Given the description of an element on the screen output the (x, y) to click on. 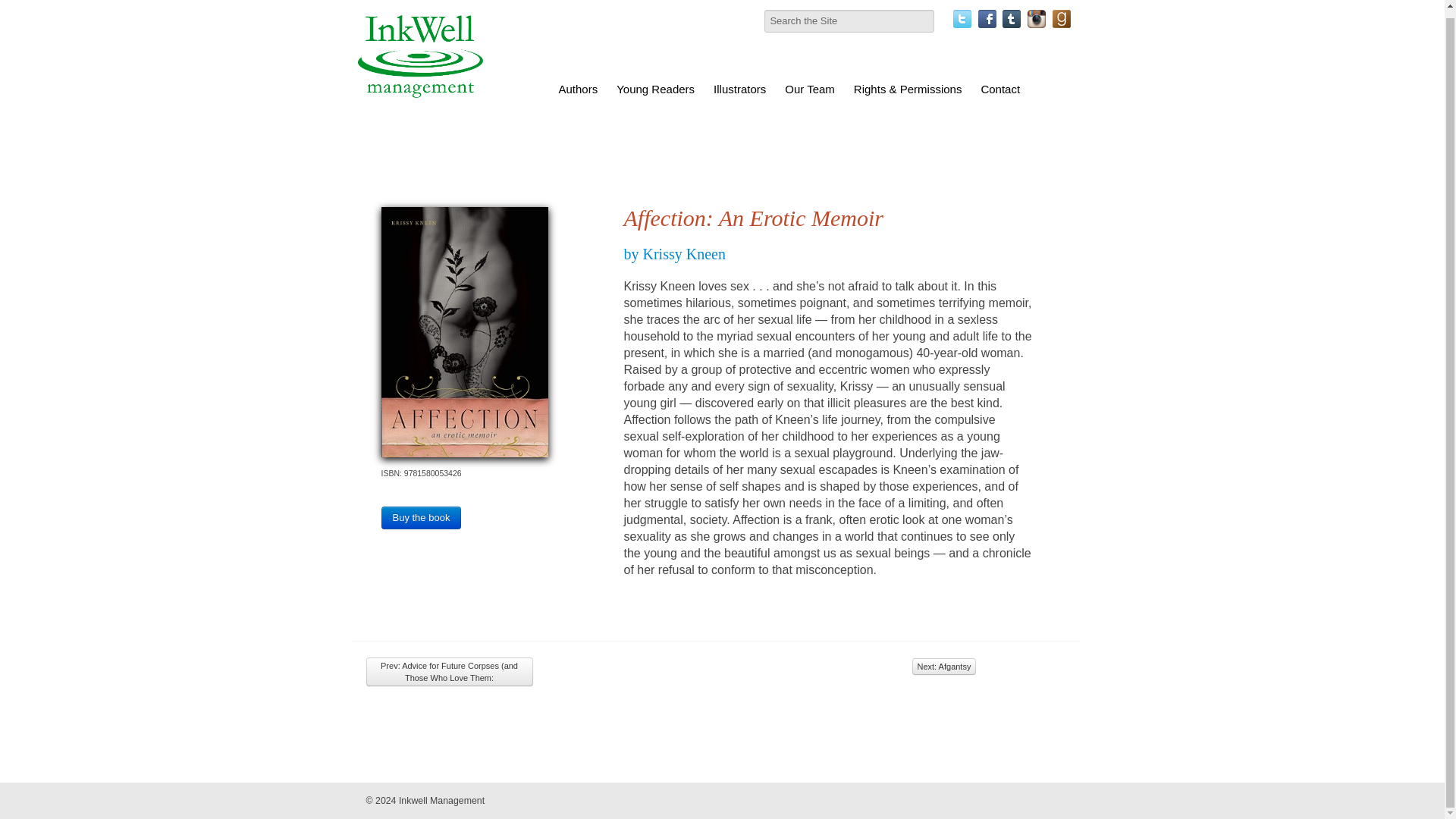
by Krissy Kneen (674, 253)
Authors (578, 83)
Illustrators (740, 83)
Inkwell Management (441, 800)
Search the Site (849, 14)
Young Readers (655, 83)
Contact (999, 83)
Buy the book (420, 517)
Next: Afgantsy (943, 666)
Our Team (809, 83)
